Given the description of an element on the screen output the (x, y) to click on. 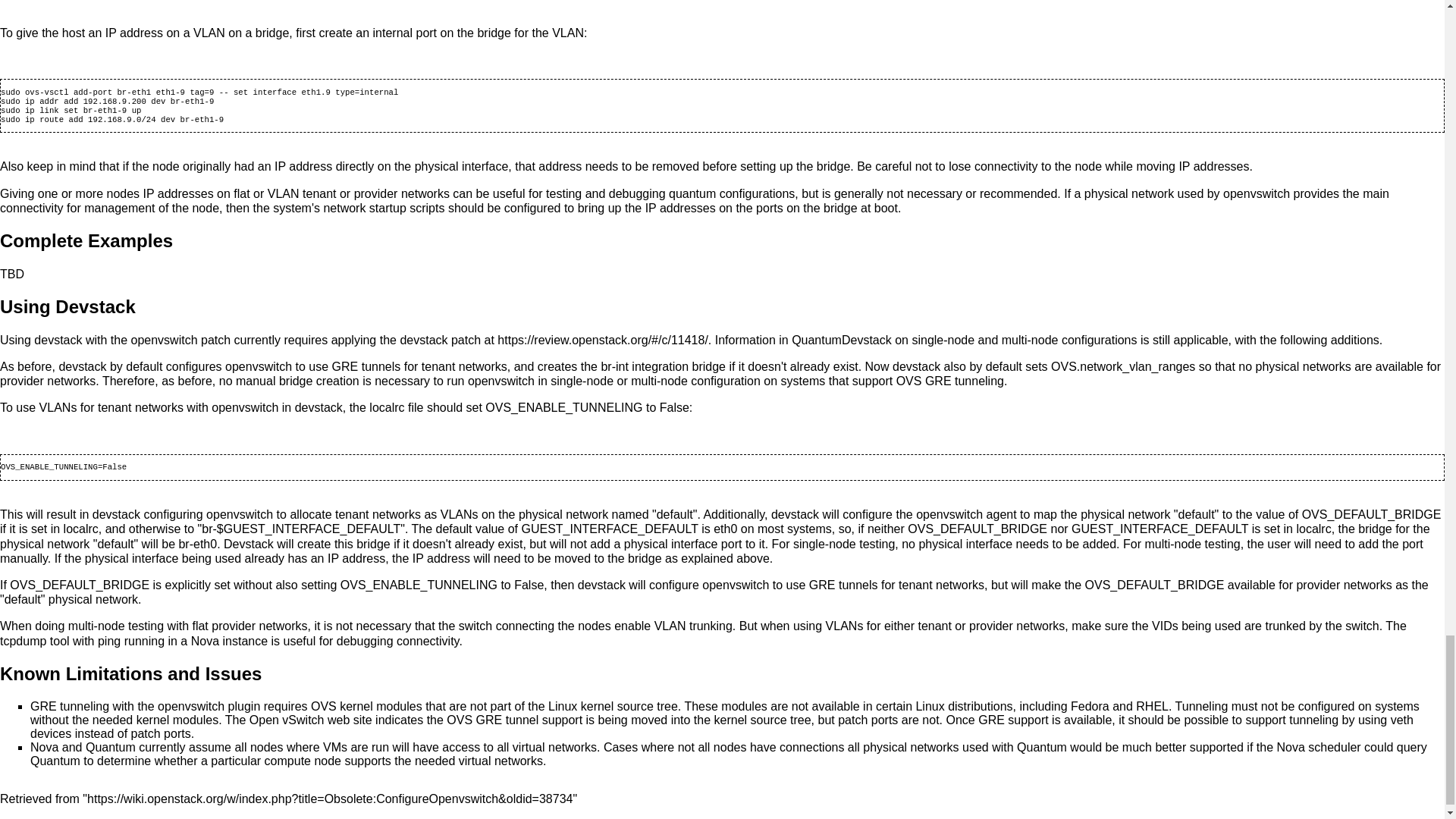
QuantumDevstack (841, 339)
